Given the description of an element on the screen output the (x, y) to click on. 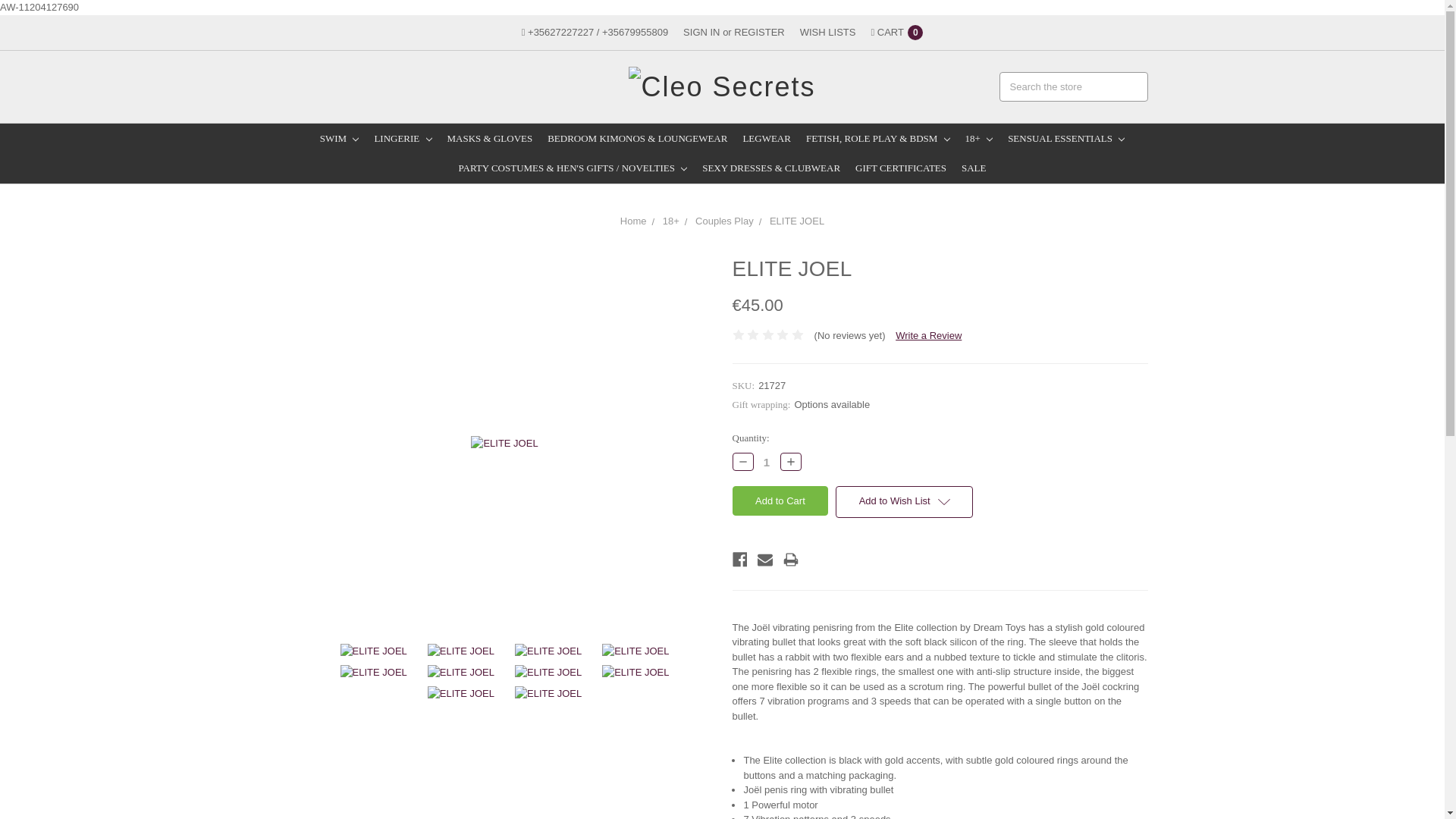
Print (790, 559)
ELITE JOEL (461, 651)
SWIM (339, 138)
ELITE JOEL (635, 651)
WISH LISTS (827, 31)
ELITE JOEL (373, 672)
SIGN IN (700, 31)
ELITE JOEL (547, 693)
Cleo Secrets (721, 86)
CART 0 (896, 31)
